Given the description of an element on the screen output the (x, y) to click on. 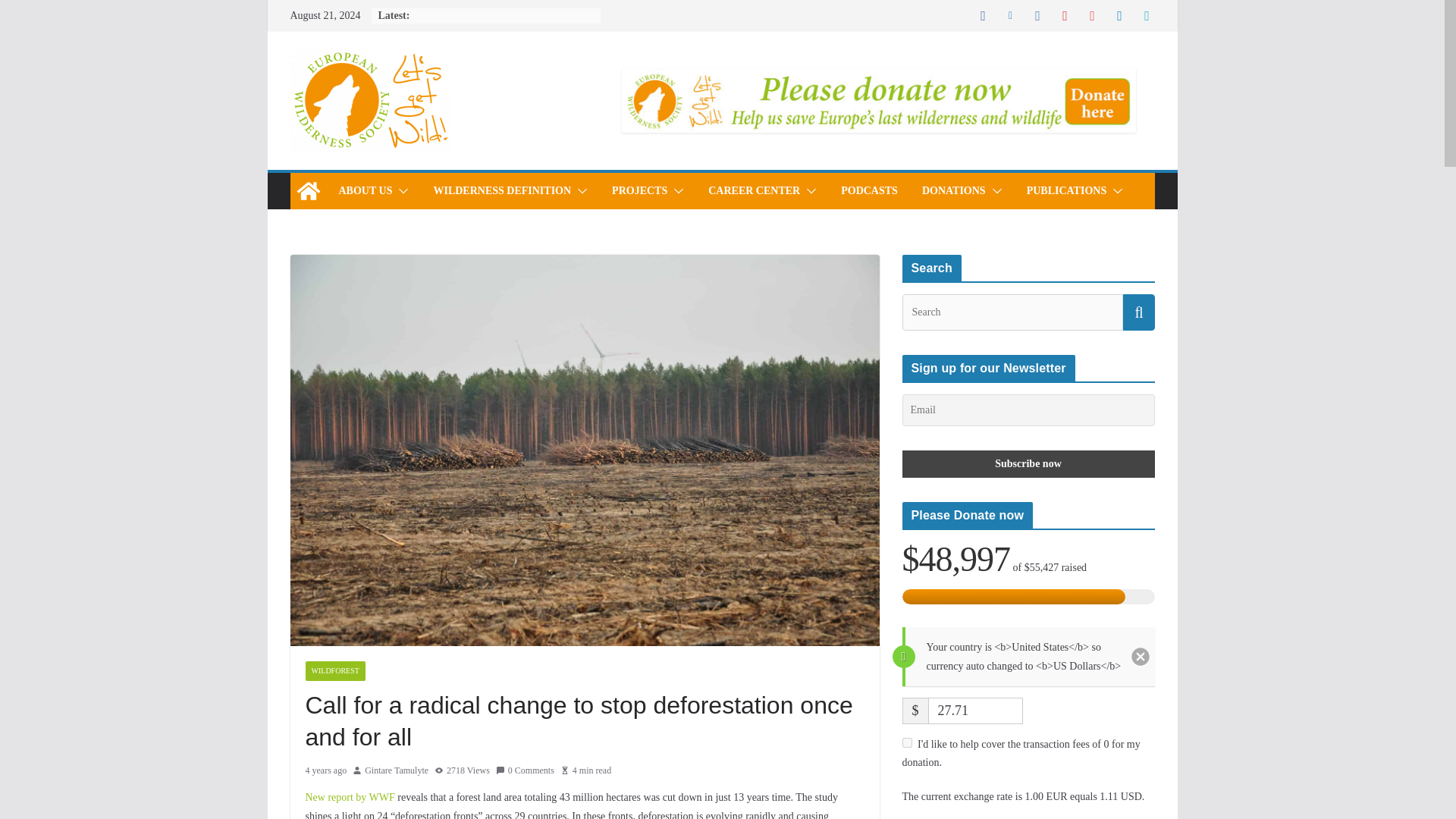
ABOUT US (364, 190)
1 (907, 742)
Subscribe now (1028, 463)
Gintare Tamulyte (396, 770)
European Wilderness Society (307, 190)
27.71 (975, 710)
